Given the description of an element on the screen output the (x, y) to click on. 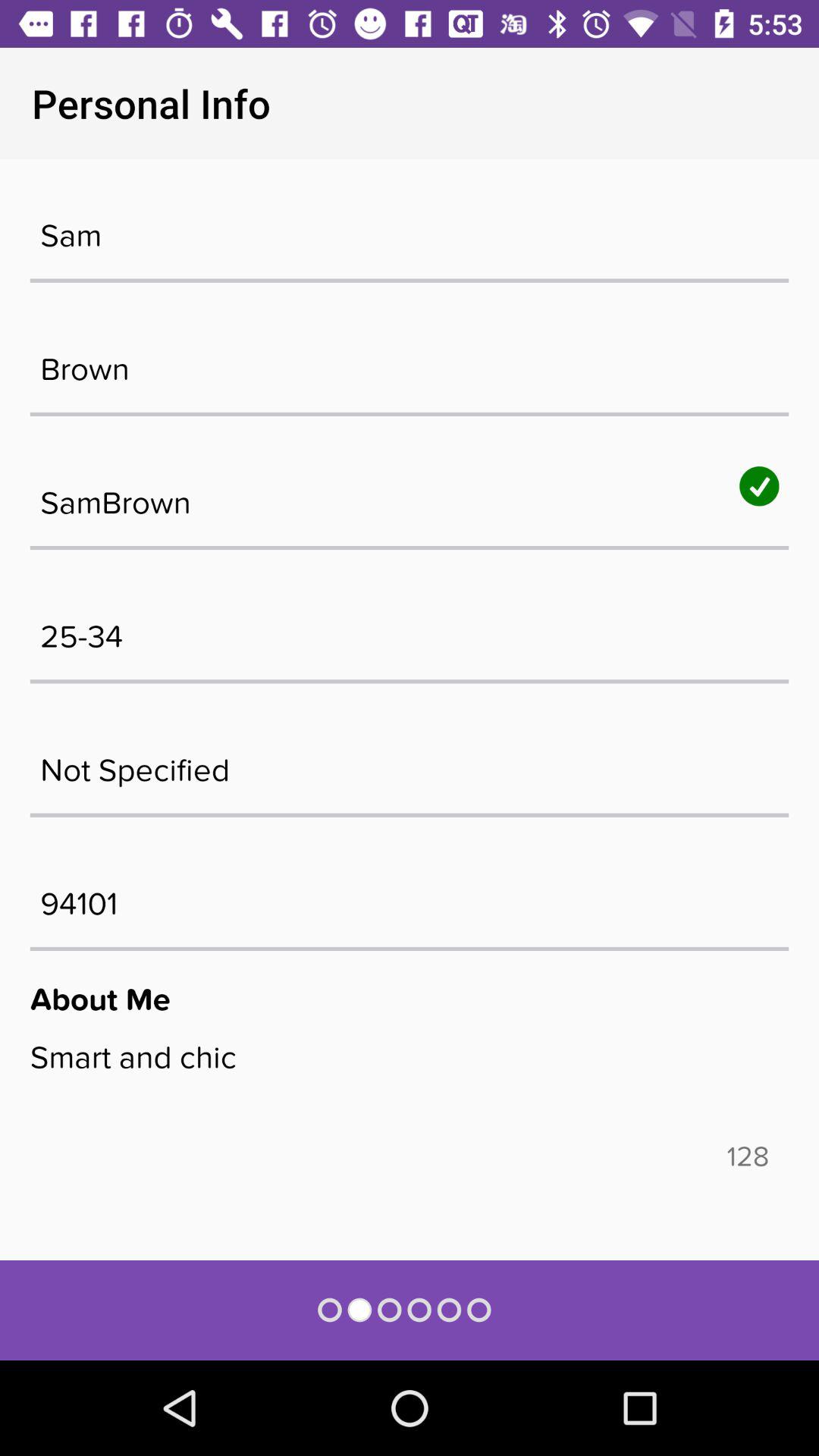
jump to the 94101 item (409, 895)
